Given the description of an element on the screen output the (x, y) to click on. 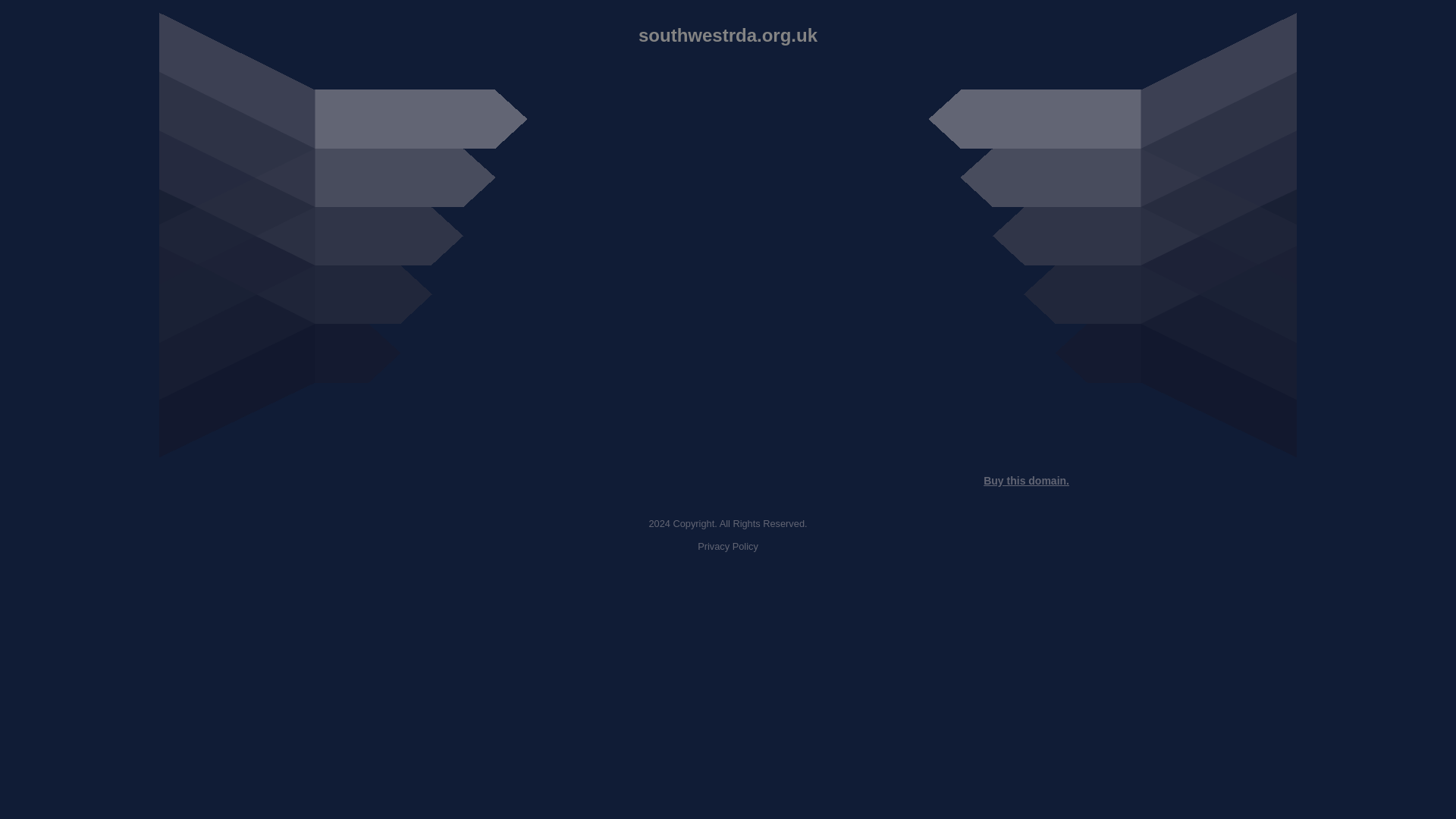
Buy this domain. (1026, 480)
Privacy Policy (727, 546)
